Given the description of an element on the screen output the (x, y) to click on. 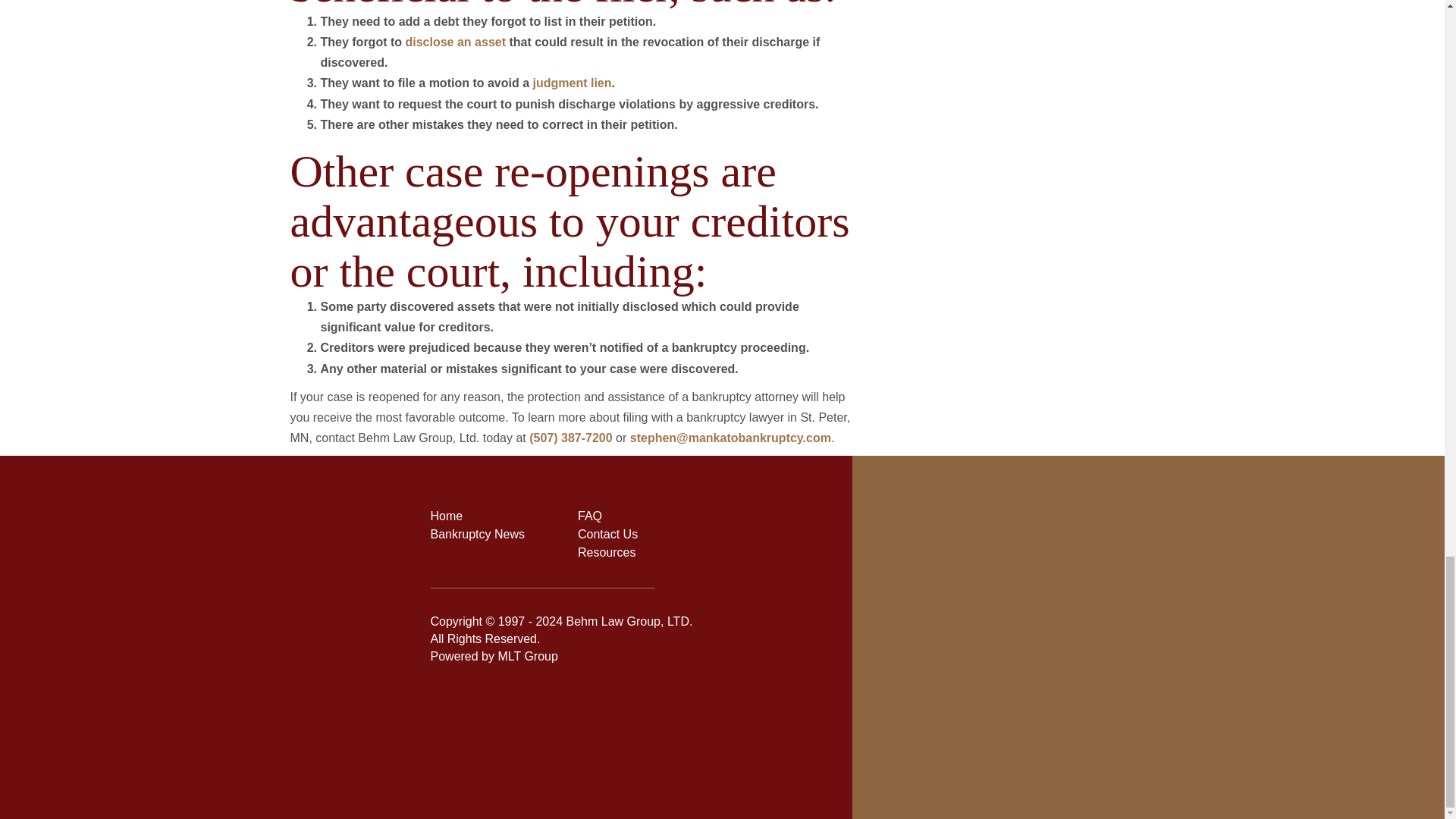
disclose an asset (454, 42)
judgment lien (571, 82)
